Given the description of an element on the screen output the (x, y) to click on. 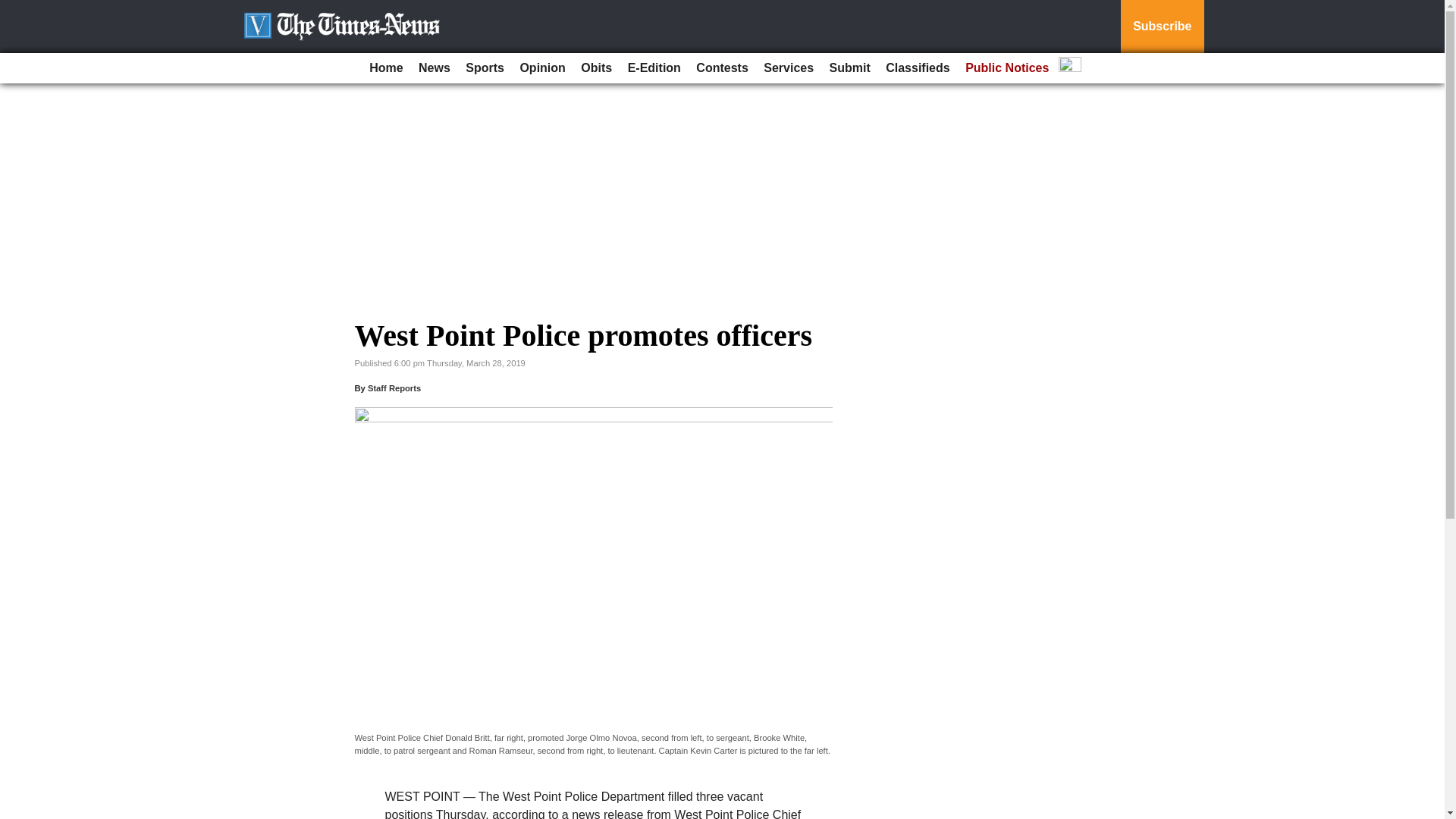
Obits (596, 68)
Classifieds (917, 68)
Subscribe (1162, 26)
Services (788, 68)
News (434, 68)
Home (385, 68)
Submit (850, 68)
Contests (722, 68)
E-Edition (654, 68)
Sports (485, 68)
